Given the description of an element on the screen output the (x, y) to click on. 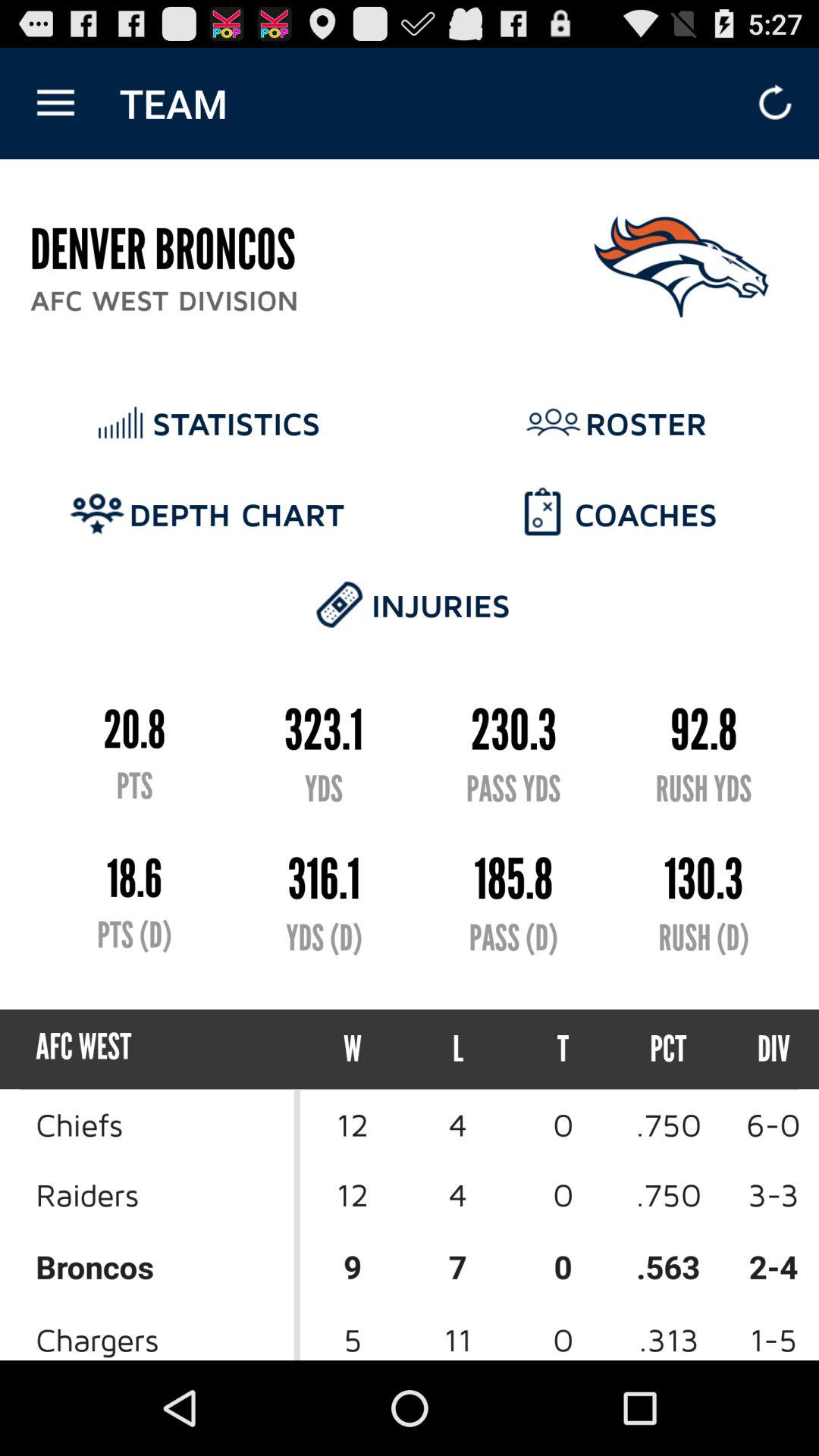
scroll until div icon (760, 1049)
